Given the description of an element on the screen output the (x, y) to click on. 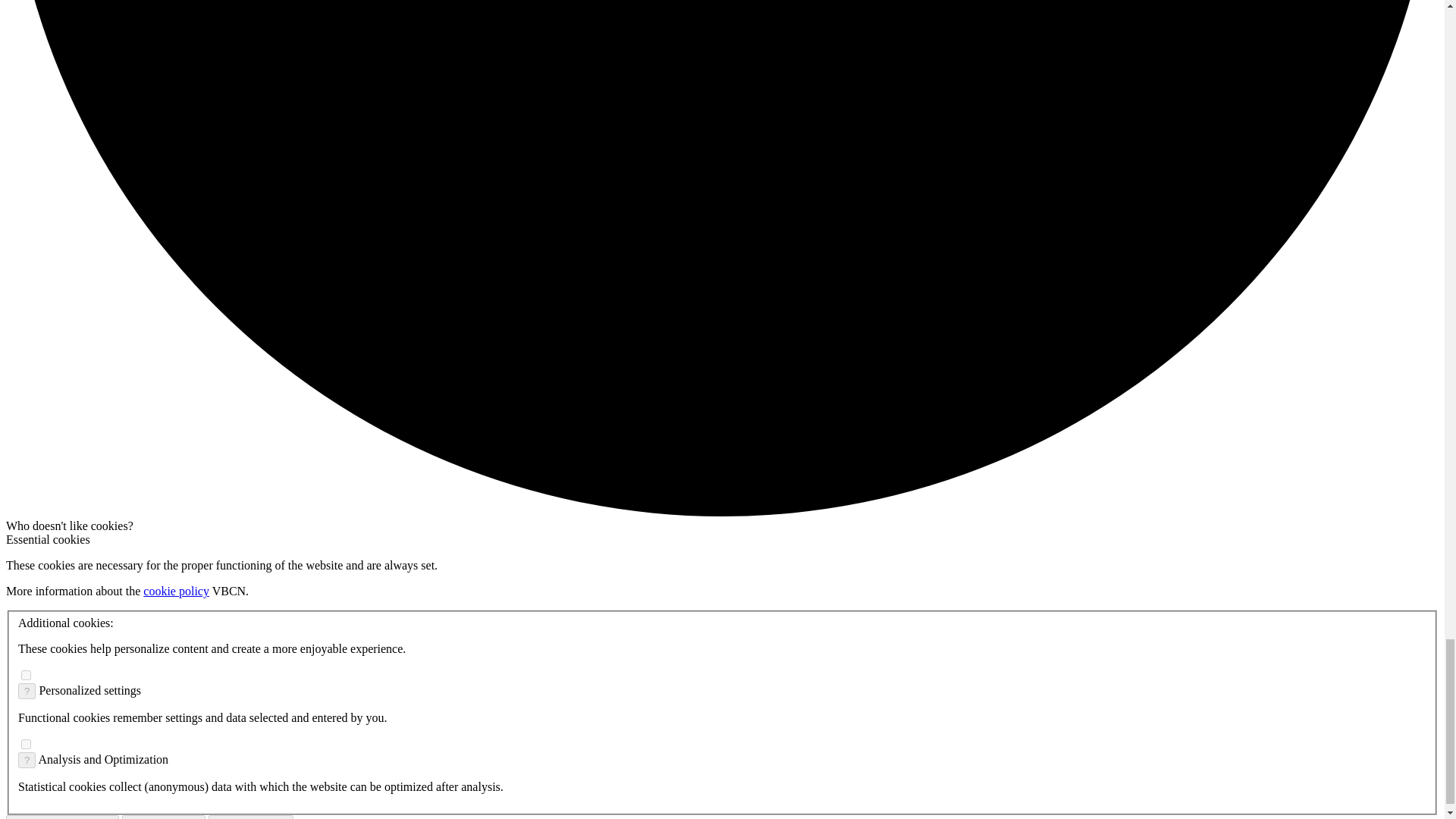
on (25, 675)
on (25, 744)
